Given the description of an element on the screen output the (x, y) to click on. 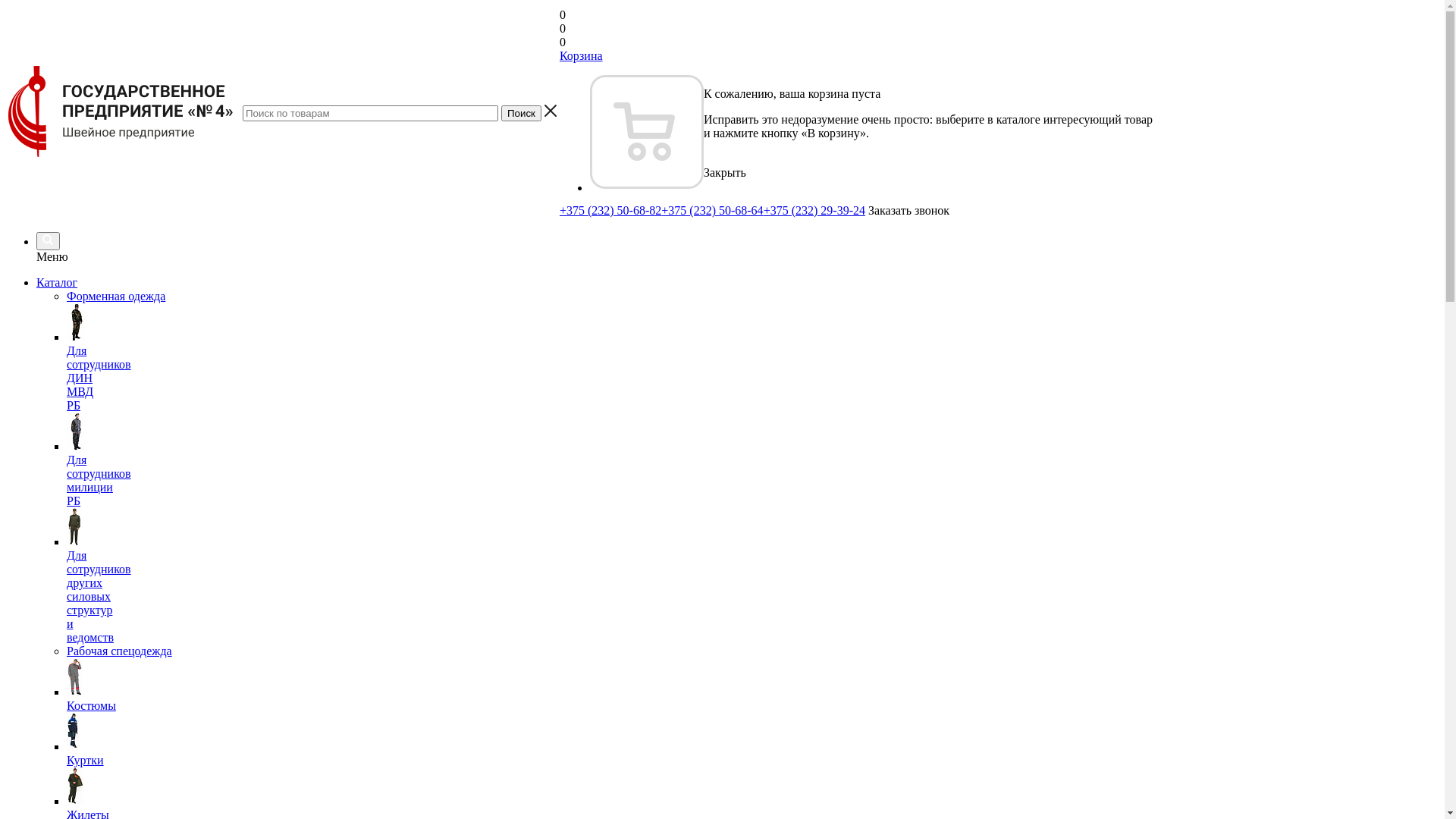
+375 (232) 29-39-24 Element type: text (814, 209)
+375 (232) 50-68-82 Element type: text (610, 209)
+375 (232) 50-68-64 Element type: text (711, 209)
